Given the description of an element on the screen output the (x, y) to click on. 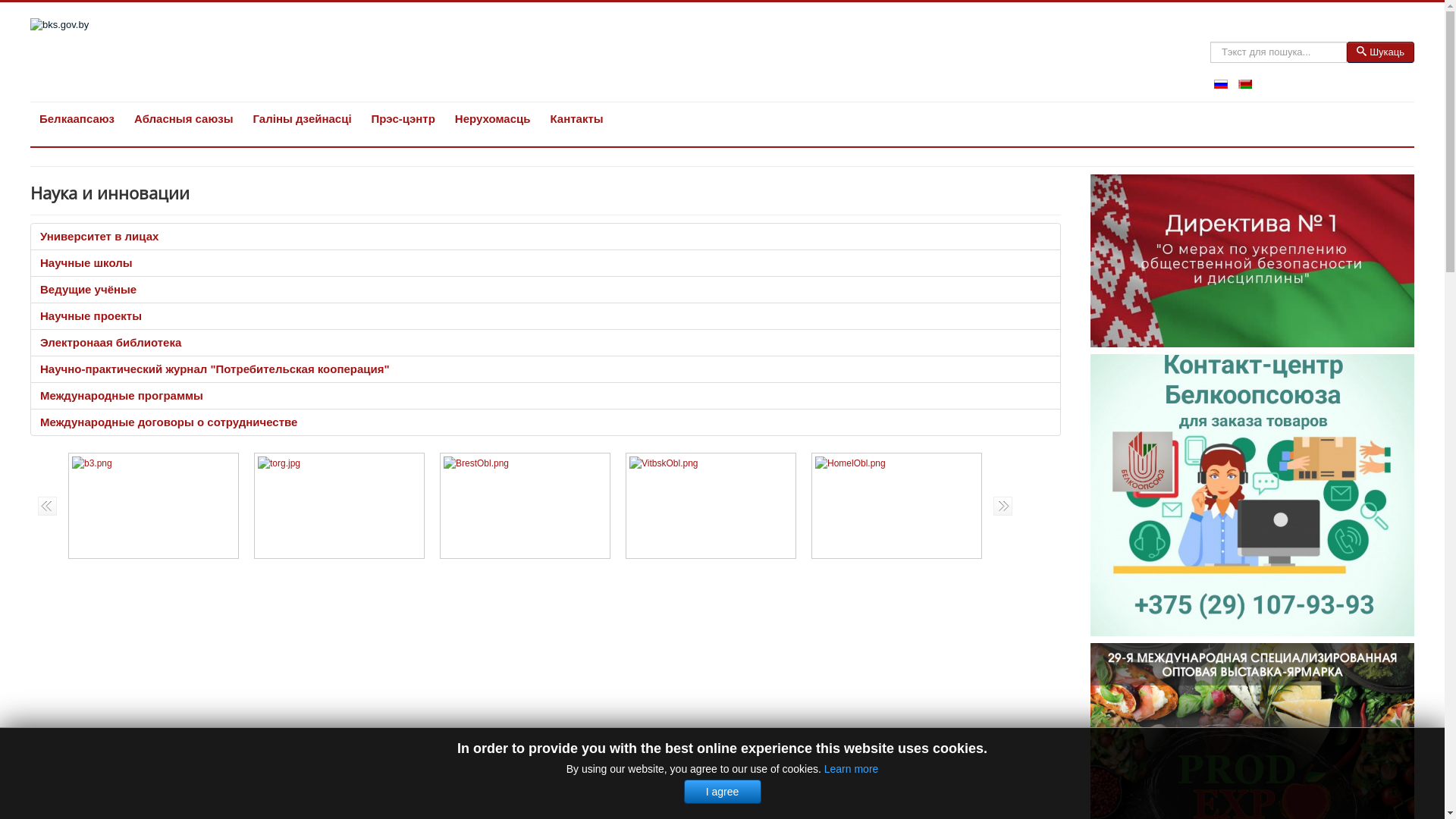
Belarusian (be-BY) Element type: hover (1245, 83)
Russian (RU) Element type: hover (1220, 83)
Learn more Element type: text (851, 768)
